Given the description of an element on the screen output the (x, y) to click on. 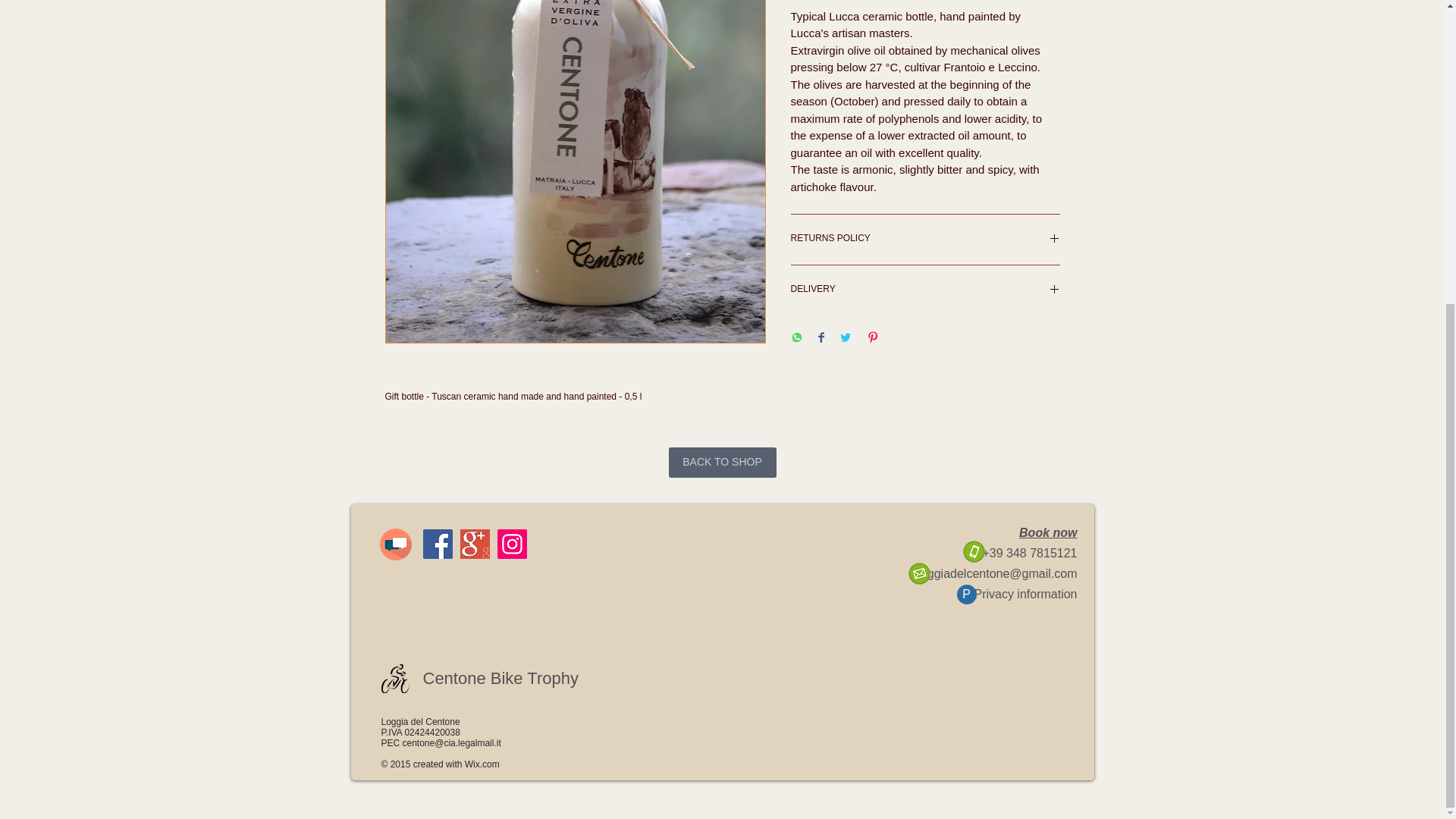
DELIVERY (924, 290)
RETURNS POLICY (924, 239)
BACK TO SHOP (722, 462)
Centone Bike Trophy (500, 679)
Wix.com (481, 764)
P (966, 594)
